Given the description of an element on the screen output the (x, y) to click on. 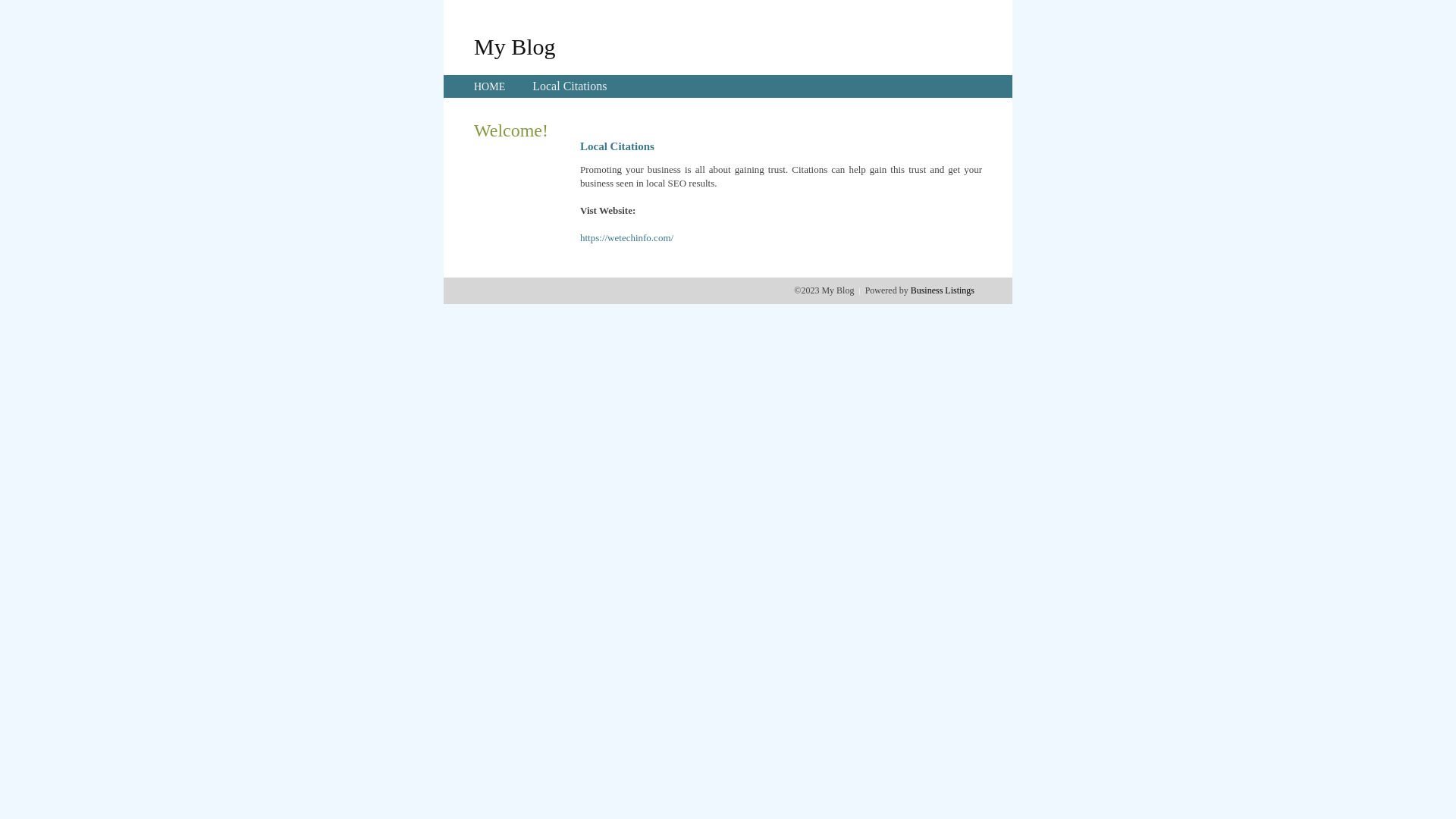
My Blog Element type: text (514, 46)
Local Citations Element type: text (569, 85)
https://wetechinfo.com/ Element type: text (626, 237)
HOME Element type: text (489, 86)
Business Listings Element type: text (942, 290)
